Given the description of an element on the screen output the (x, y) to click on. 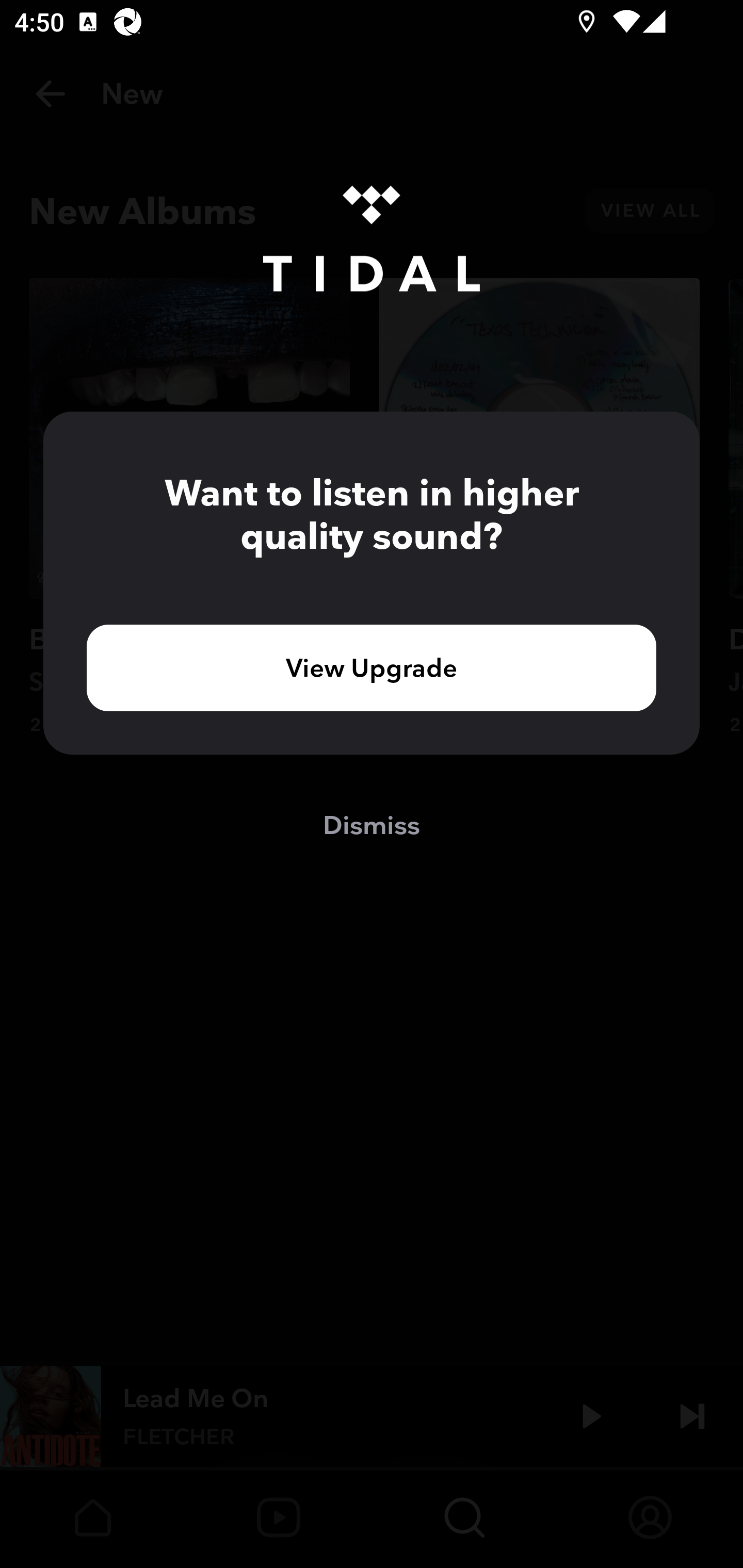
View Upgrade (371, 667)
Dismiss (371, 824)
